Given the description of an element on the screen output the (x, y) to click on. 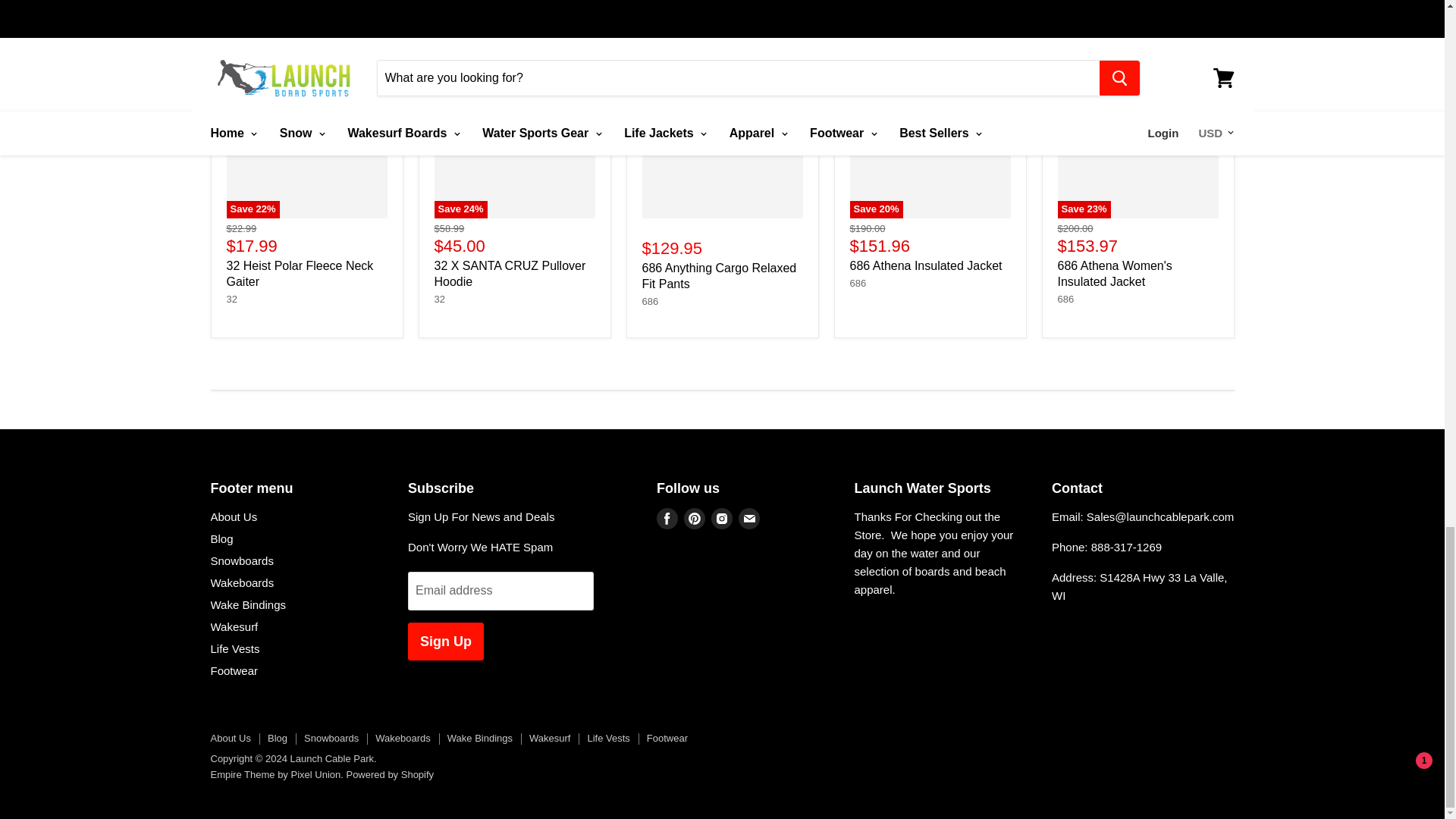
Facebook (667, 518)
Instagram (721, 518)
E-mail (748, 518)
Pinterest (694, 518)
